Given the description of an element on the screen output the (x, y) to click on. 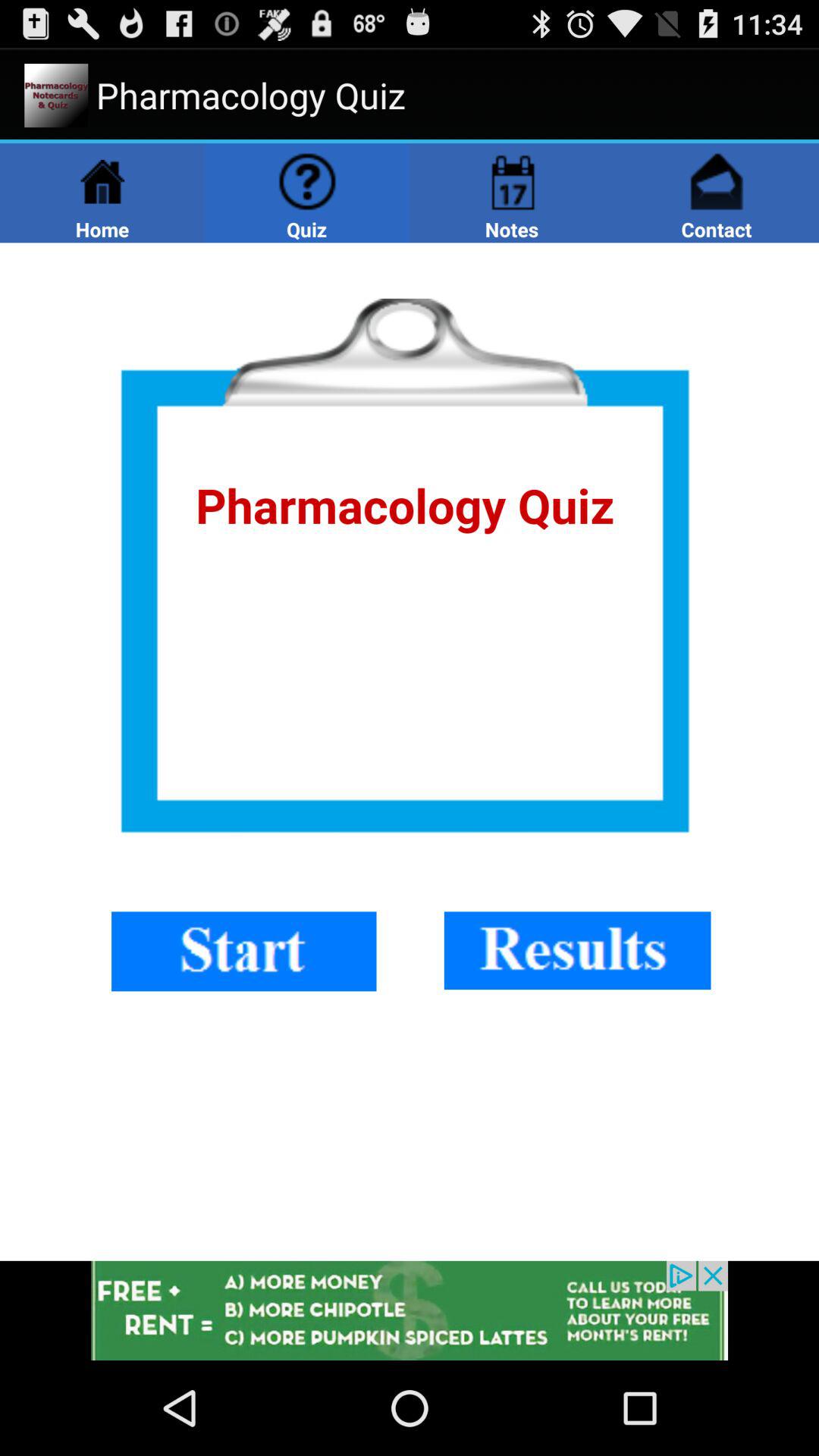
app page (409, 751)
